Given the description of an element on the screen output the (x, y) to click on. 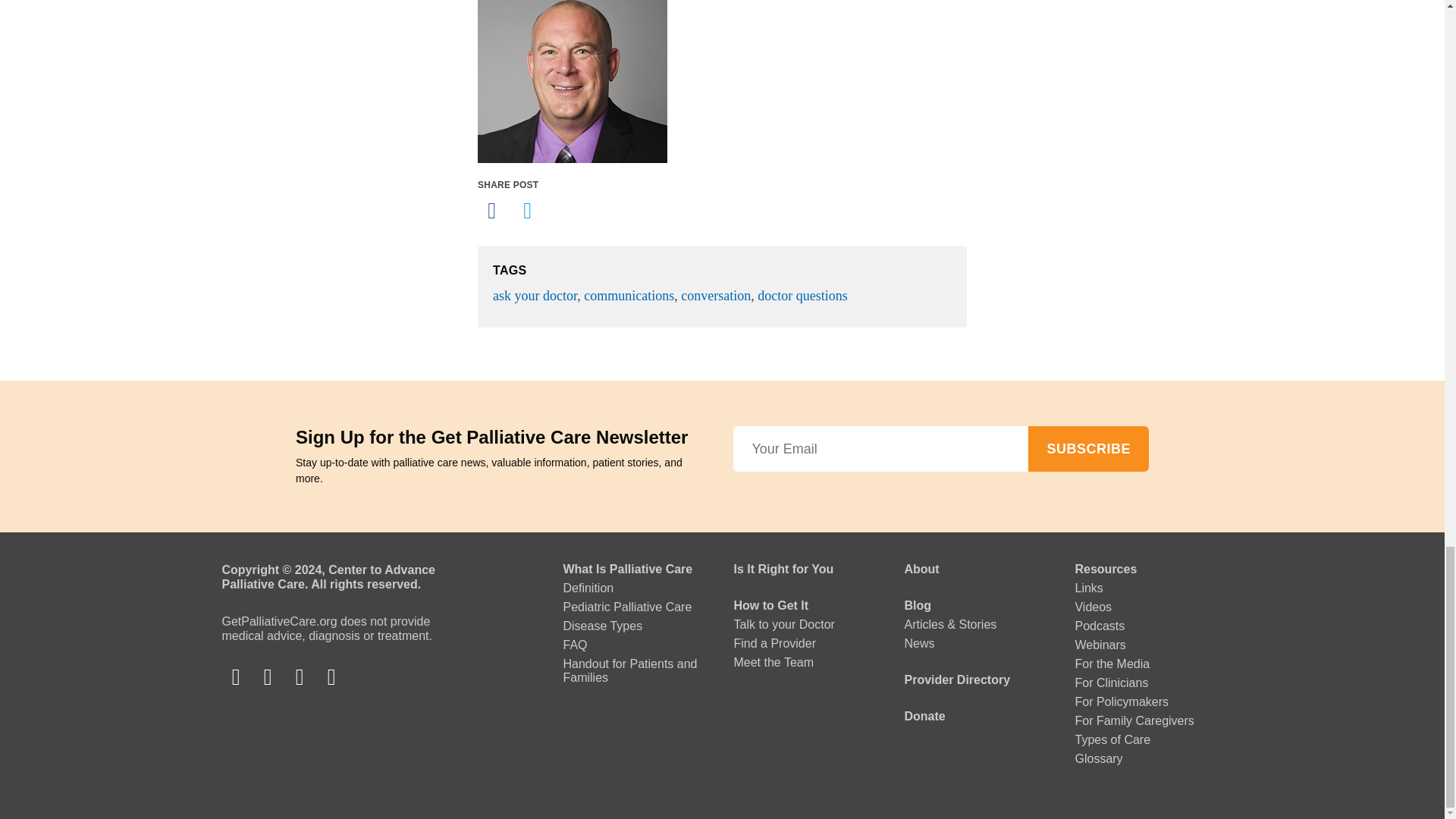
Subscribe (1087, 448)
